Given the description of an element on the screen output the (x, y) to click on. 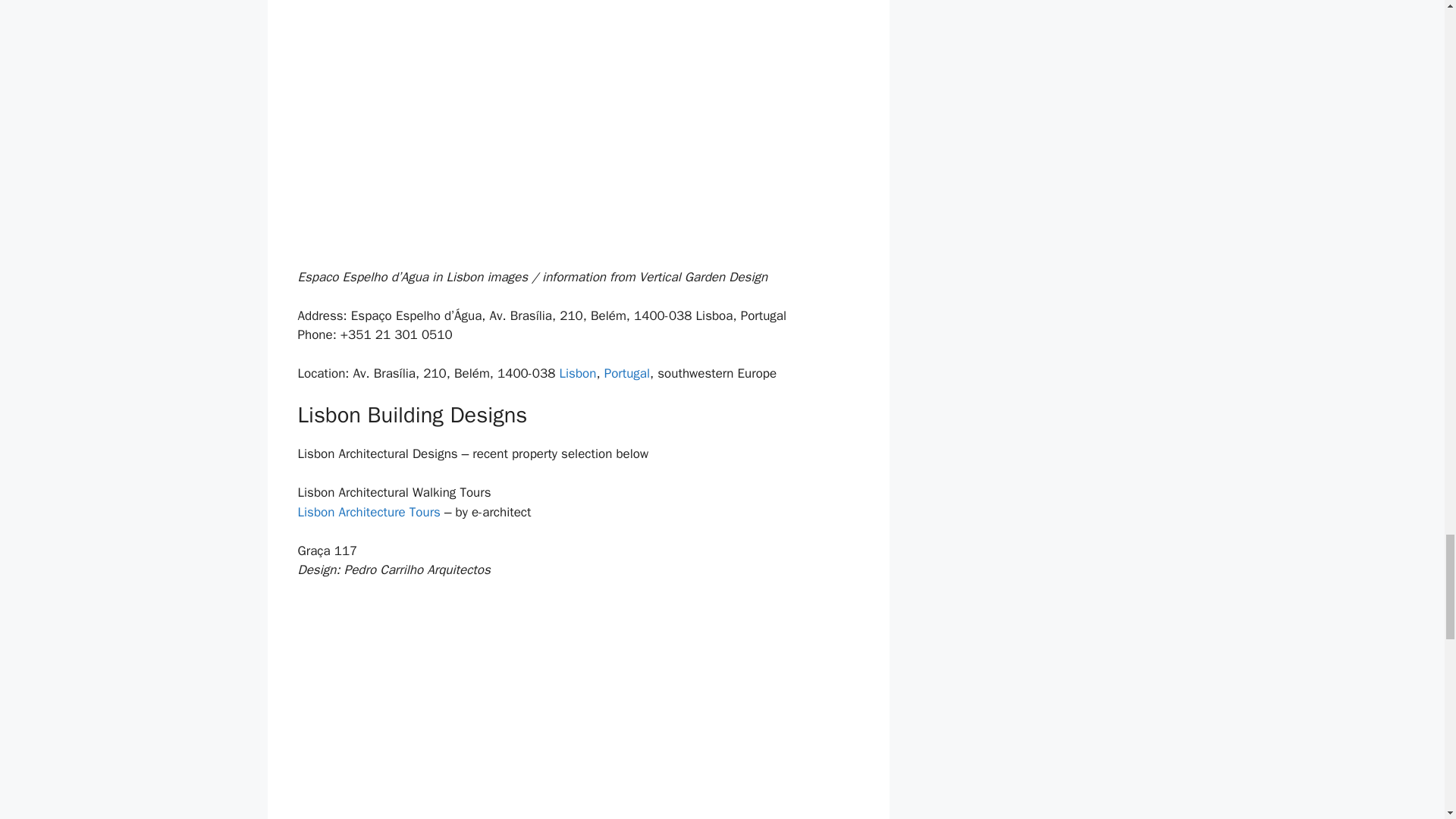
Portugal (626, 373)
Lisbon (577, 373)
Lisbon Architecture Tours (368, 512)
